Given the description of an element on the screen output the (x, y) to click on. 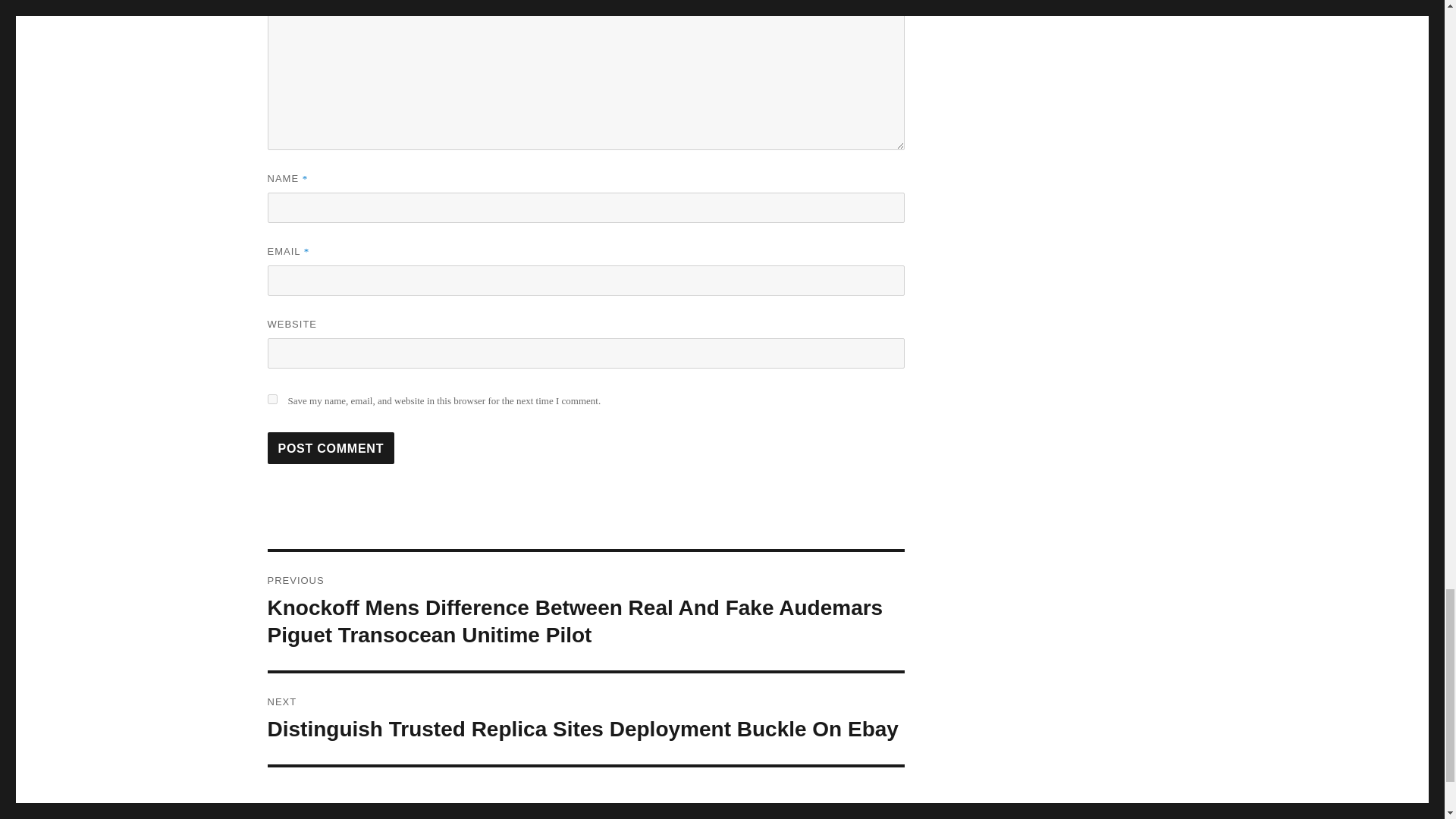
yes (271, 398)
Post Comment (330, 448)
Post Comment (330, 448)
